Given the description of an element on the screen output the (x, y) to click on. 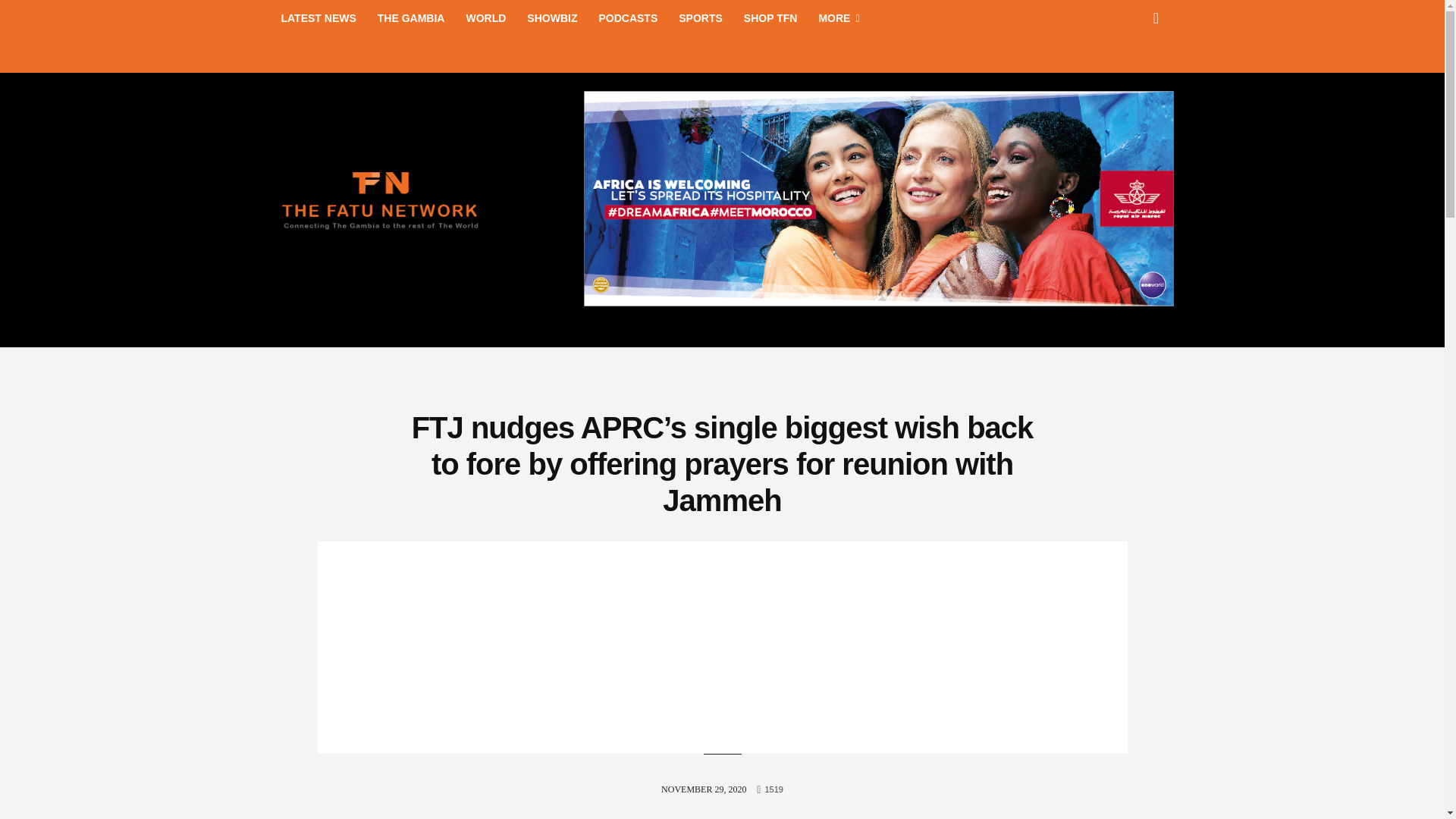
THE GAMBIA (410, 18)
PODCASTS (628, 18)
MORE (838, 18)
SHOP TFN (770, 18)
LATEST NEWS (317, 18)
WORLD (485, 18)
SPORTS (700, 18)
SHOWBIZ (552, 18)
